Given the description of an element on the screen output the (x, y) to click on. 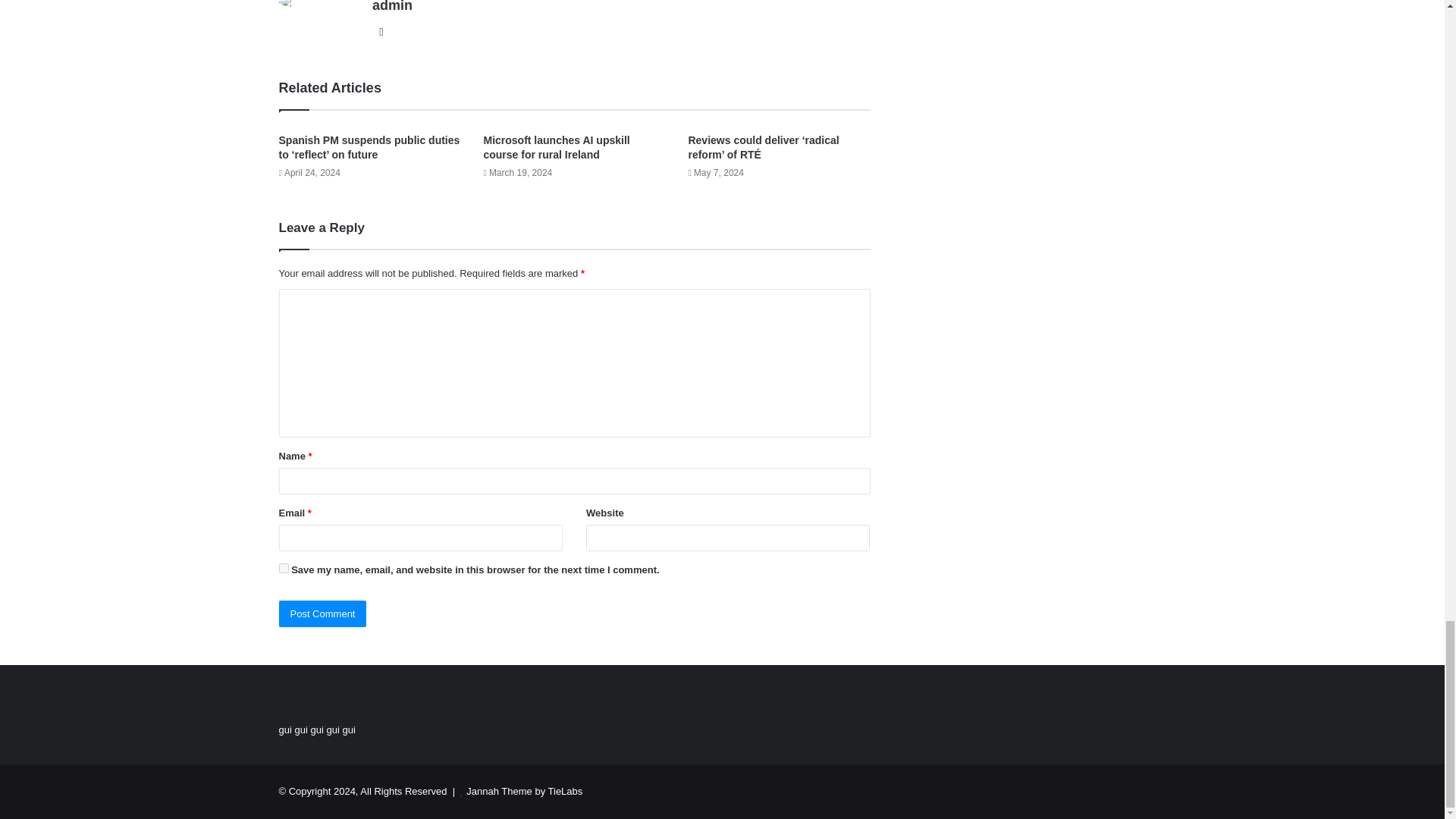
Post Comment (322, 613)
yes (283, 568)
Website (381, 31)
admin (392, 6)
